Given the description of an element on the screen output the (x, y) to click on. 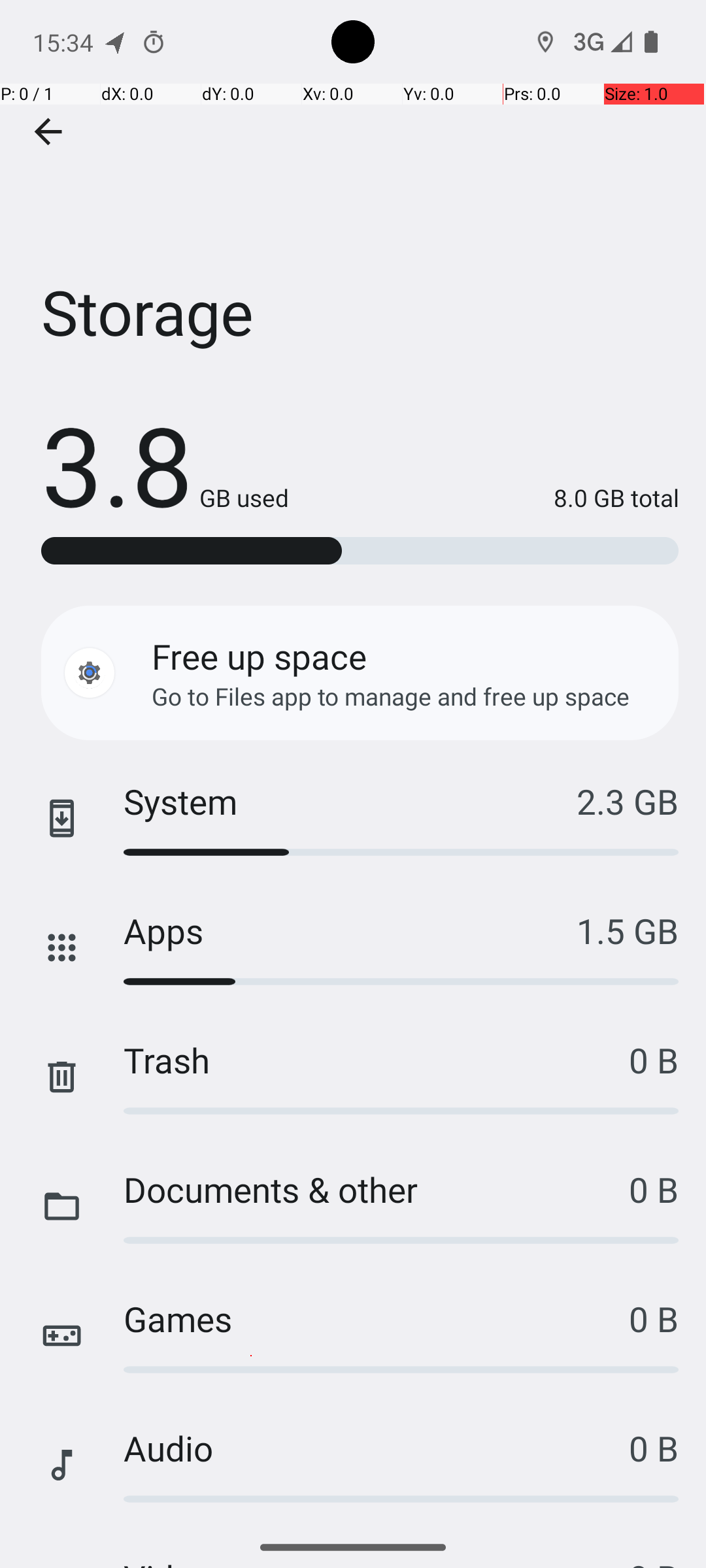
1.5 GB Element type: android.widget.TextView (627, 930)
